Given the description of an element on the screen output the (x, y) to click on. 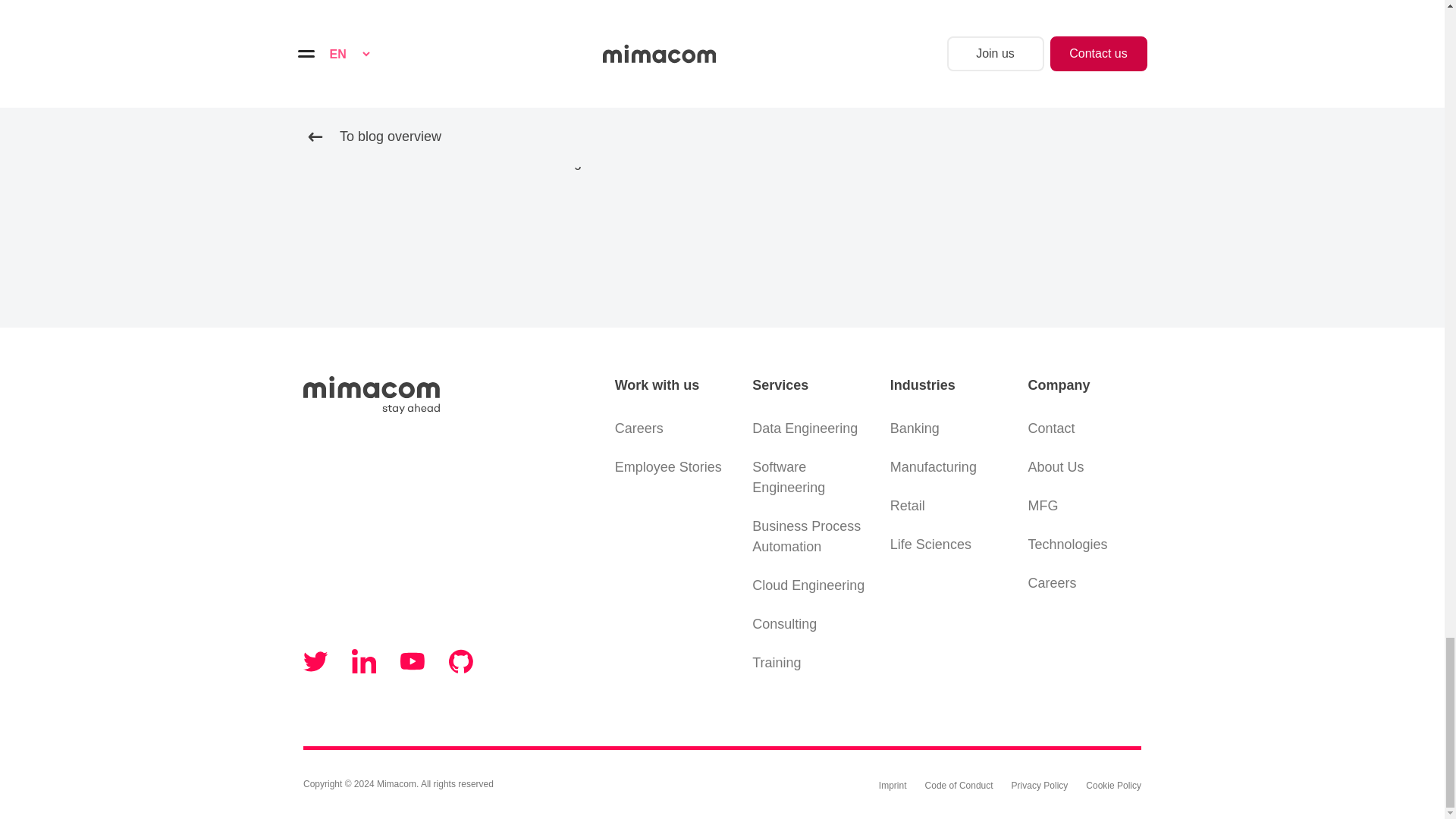
Work with us (671, 384)
Link to Linkedin profile (363, 661)
Link to Twitter profile (314, 661)
Link to Github profile (460, 661)
Link to YouTube channel (412, 661)
